Given the description of an element on the screen output the (x, y) to click on. 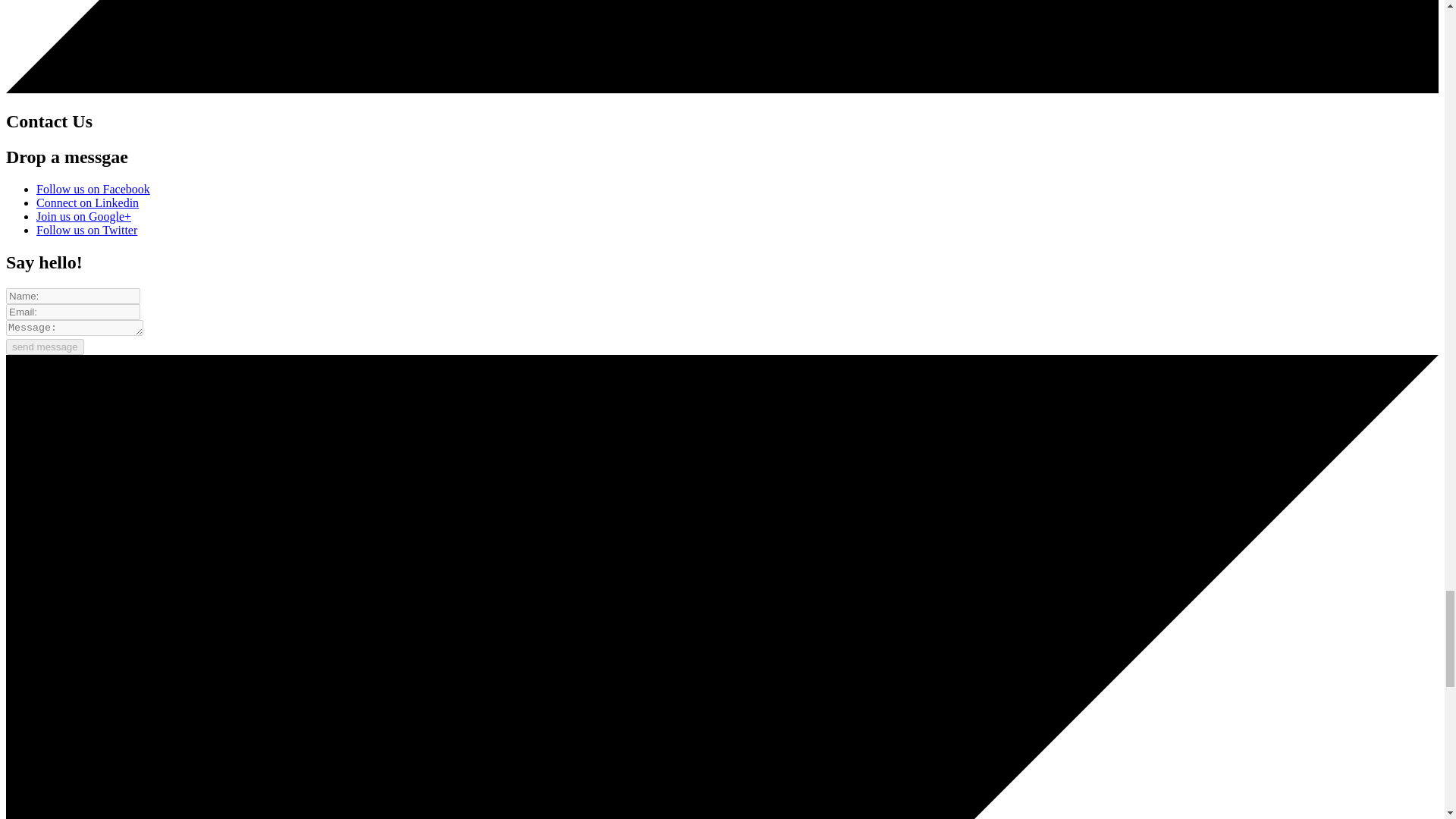
Connect on Linkedin (87, 202)
Follow us on Twitter (86, 229)
send message (44, 346)
Follow us on Facebook (92, 188)
send message (44, 346)
